Given the description of an element on the screen output the (x, y) to click on. 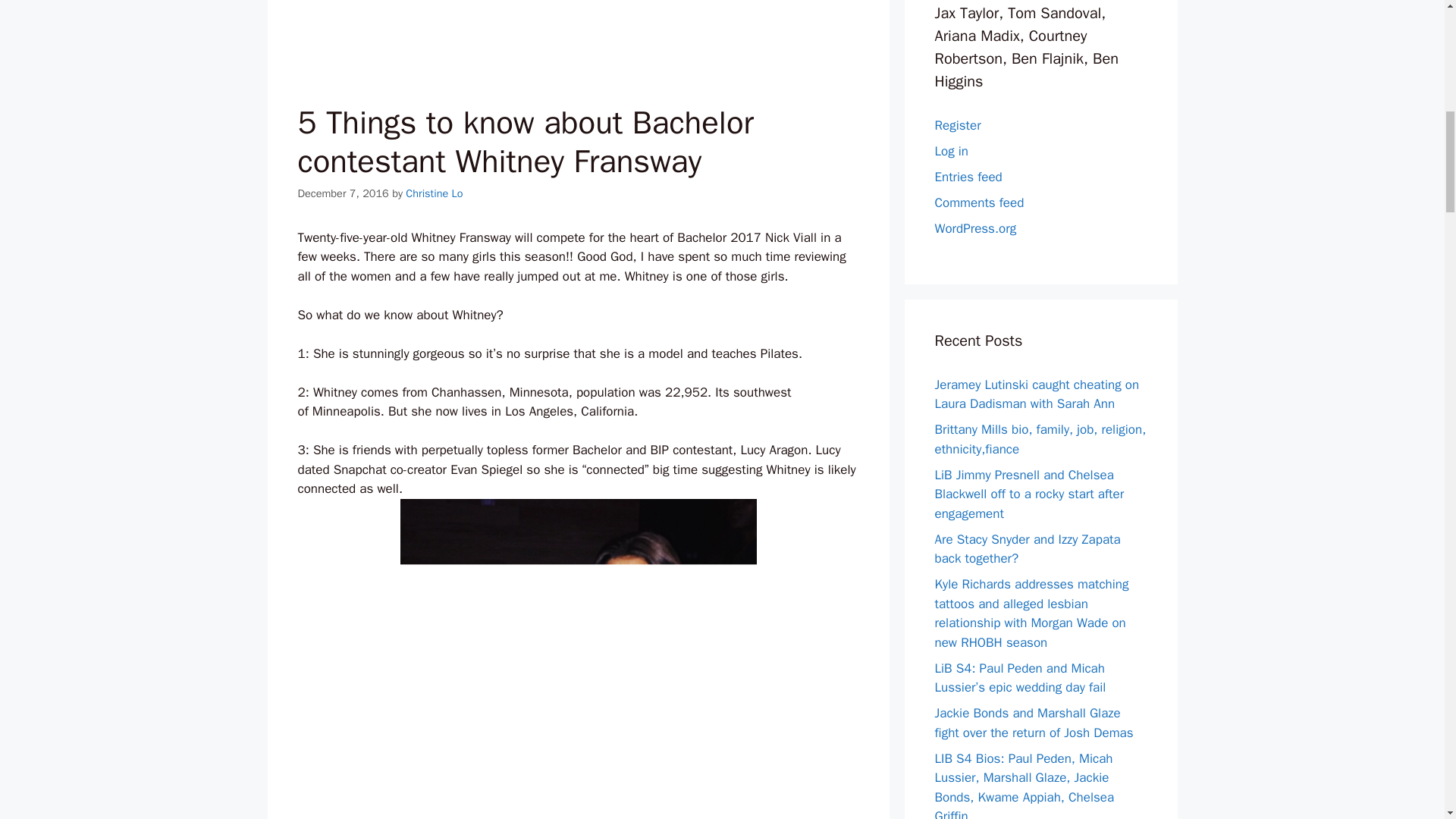
Christine Lo (434, 192)
View all posts by Christine Lo (434, 192)
